Given the description of an element on the screen output the (x, y) to click on. 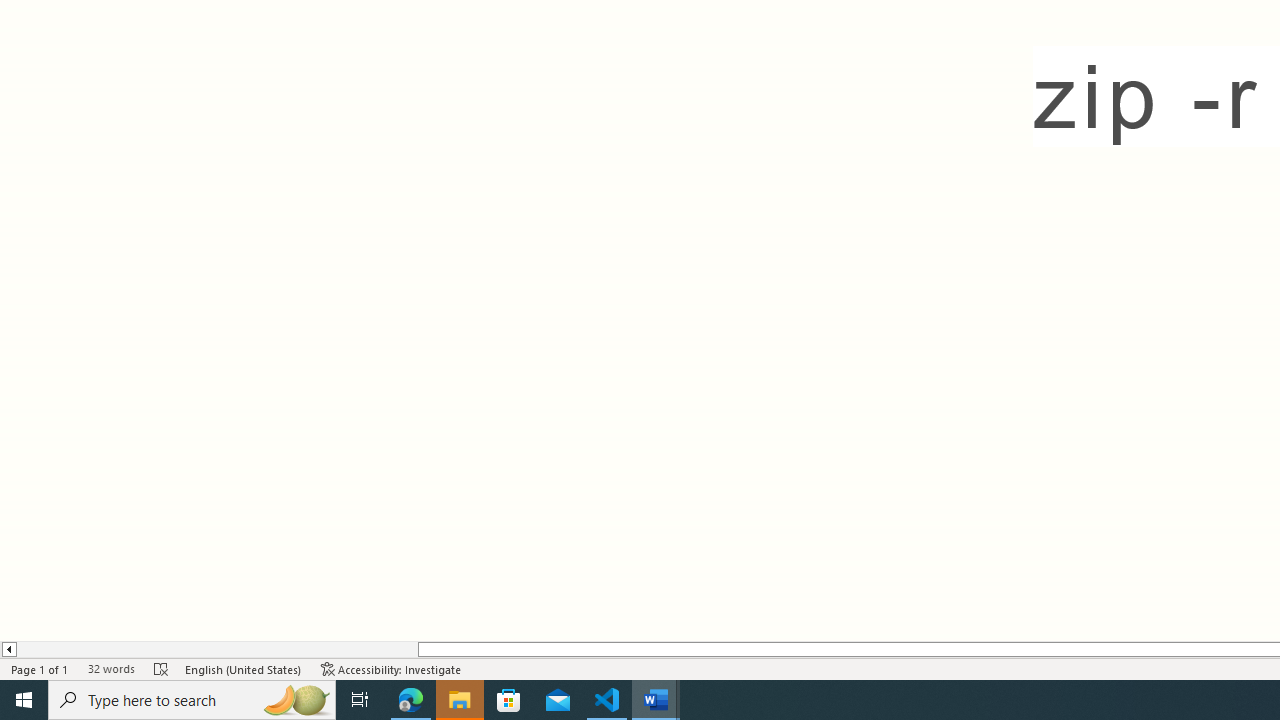
Column left (8, 649)
Page left (217, 649)
Language English (United States) (243, 668)
Spelling and Grammar Check Errors (161, 668)
Word Count 32 words (111, 668)
Page Number Page 1 of 1 (39, 668)
Accessibility Checker Accessibility: Investigate (391, 668)
